Given the description of an element on the screen output the (x, y) to click on. 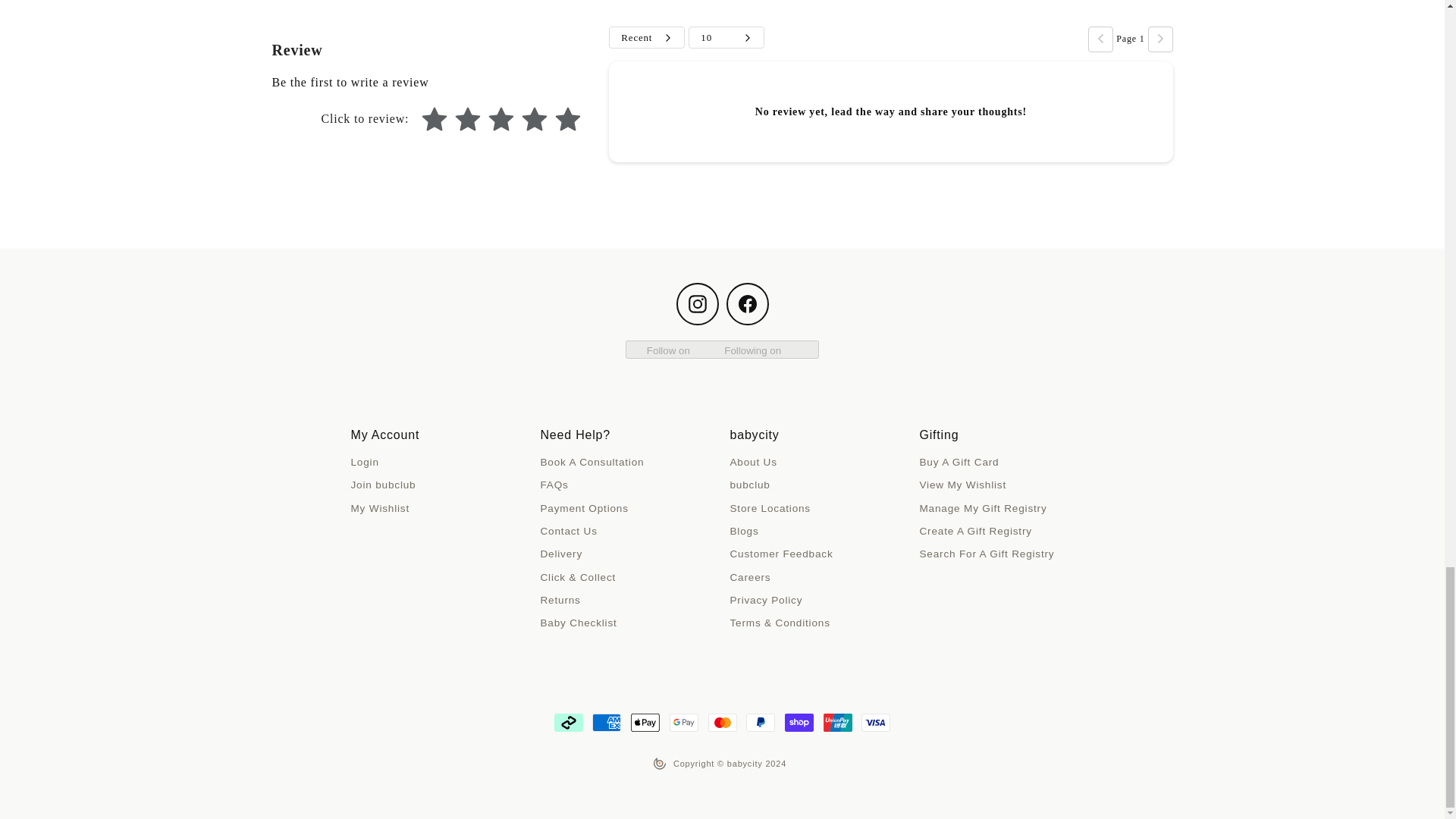
babycity on Facebook (747, 303)
babycity on Instagram (698, 303)
